Given the description of an element on the screen output the (x, y) to click on. 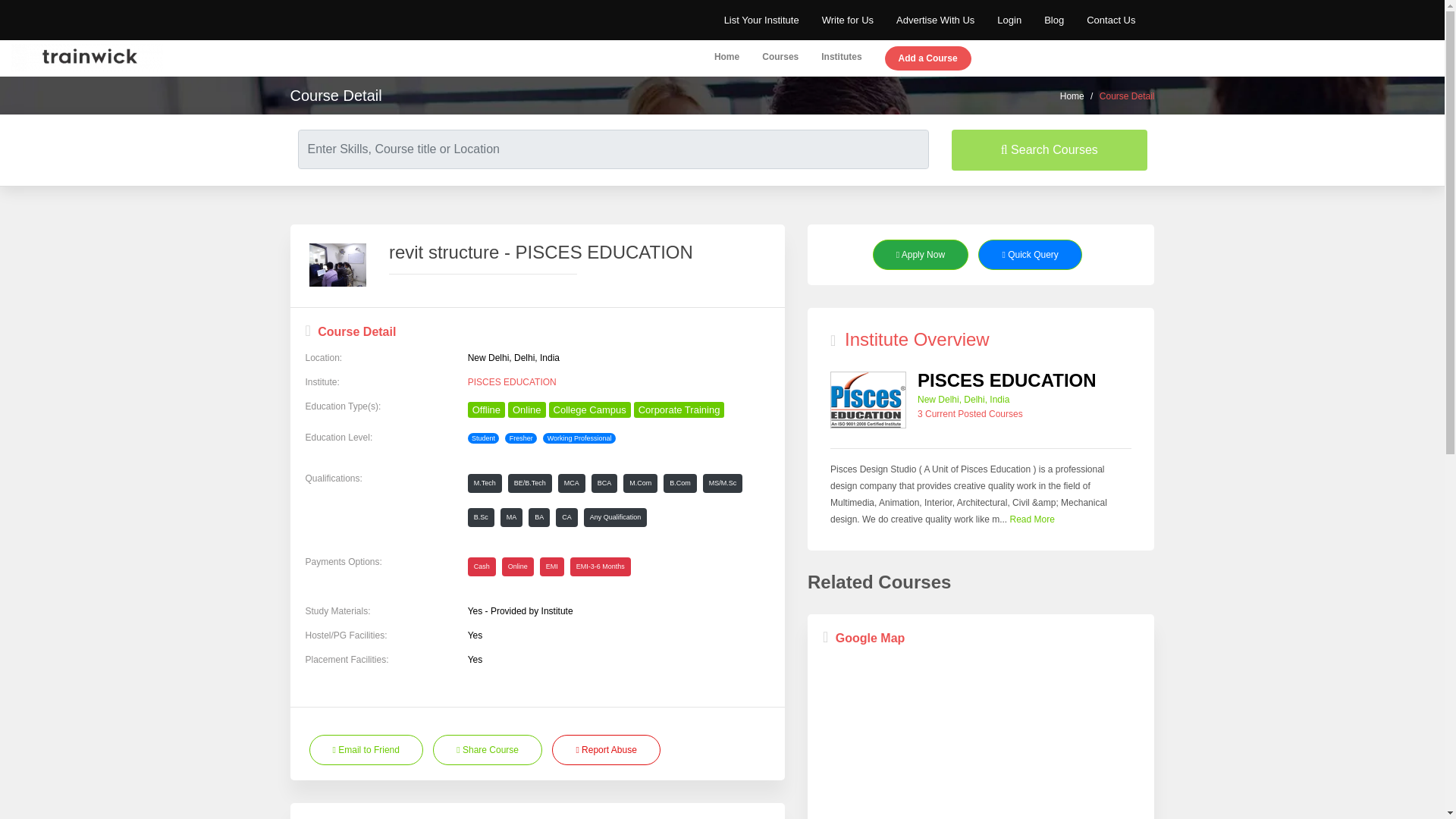
MCA (571, 483)
List Your Institute (761, 19)
EMI (552, 566)
Offline (486, 409)
Login (1009, 19)
Online (518, 566)
CA (567, 517)
Student (483, 438)
Corporate Training (679, 409)
B.Sc (481, 517)
B.Com (680, 483)
Courses (779, 57)
Institutes (841, 57)
PISCES EDUCATION (618, 381)
revit structure (337, 264)
